Given the description of an element on the screen output the (x, y) to click on. 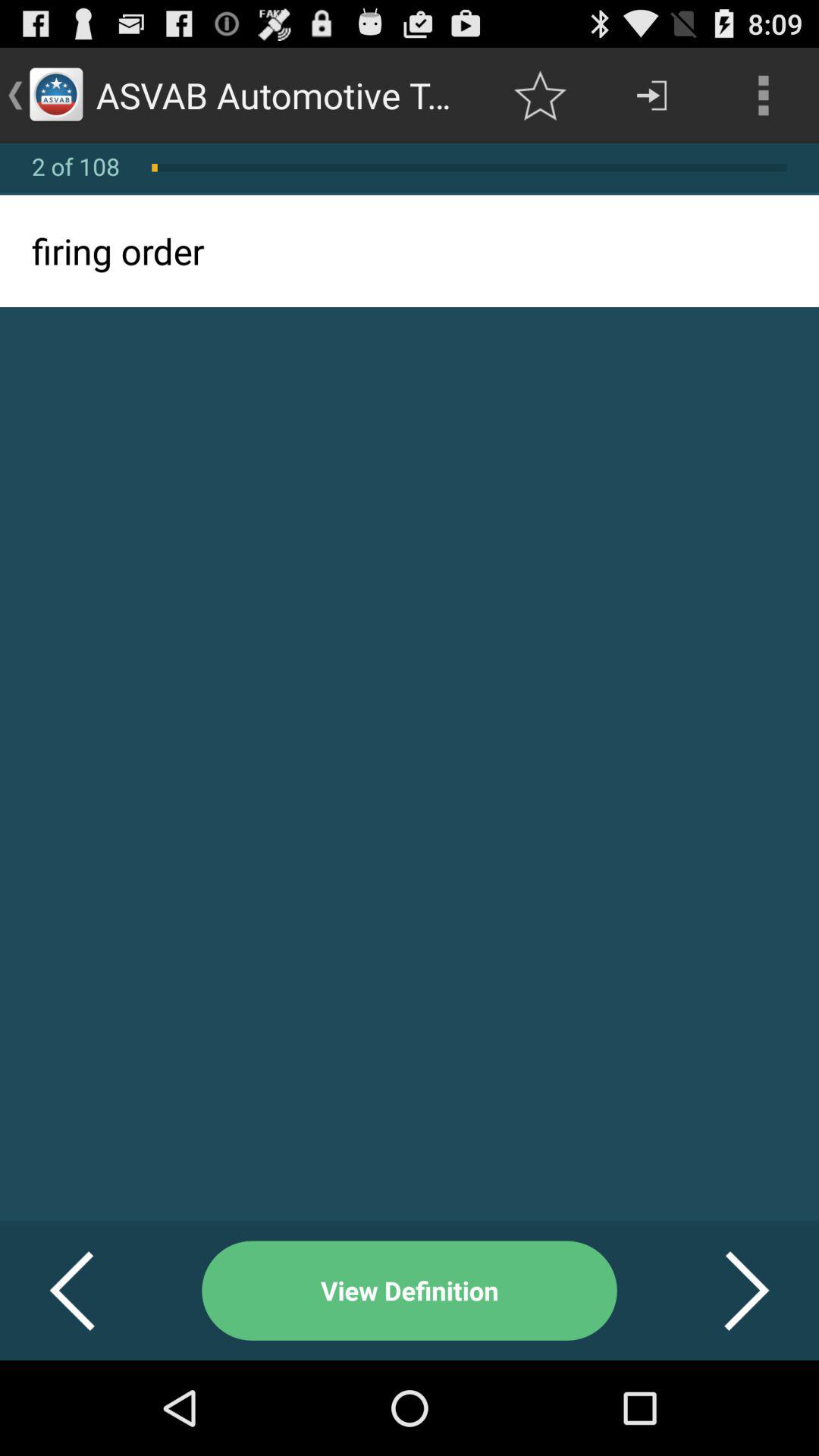
turn off the icon at the bottom left corner (91, 1290)
